Given the description of an element on the screen output the (x, y) to click on. 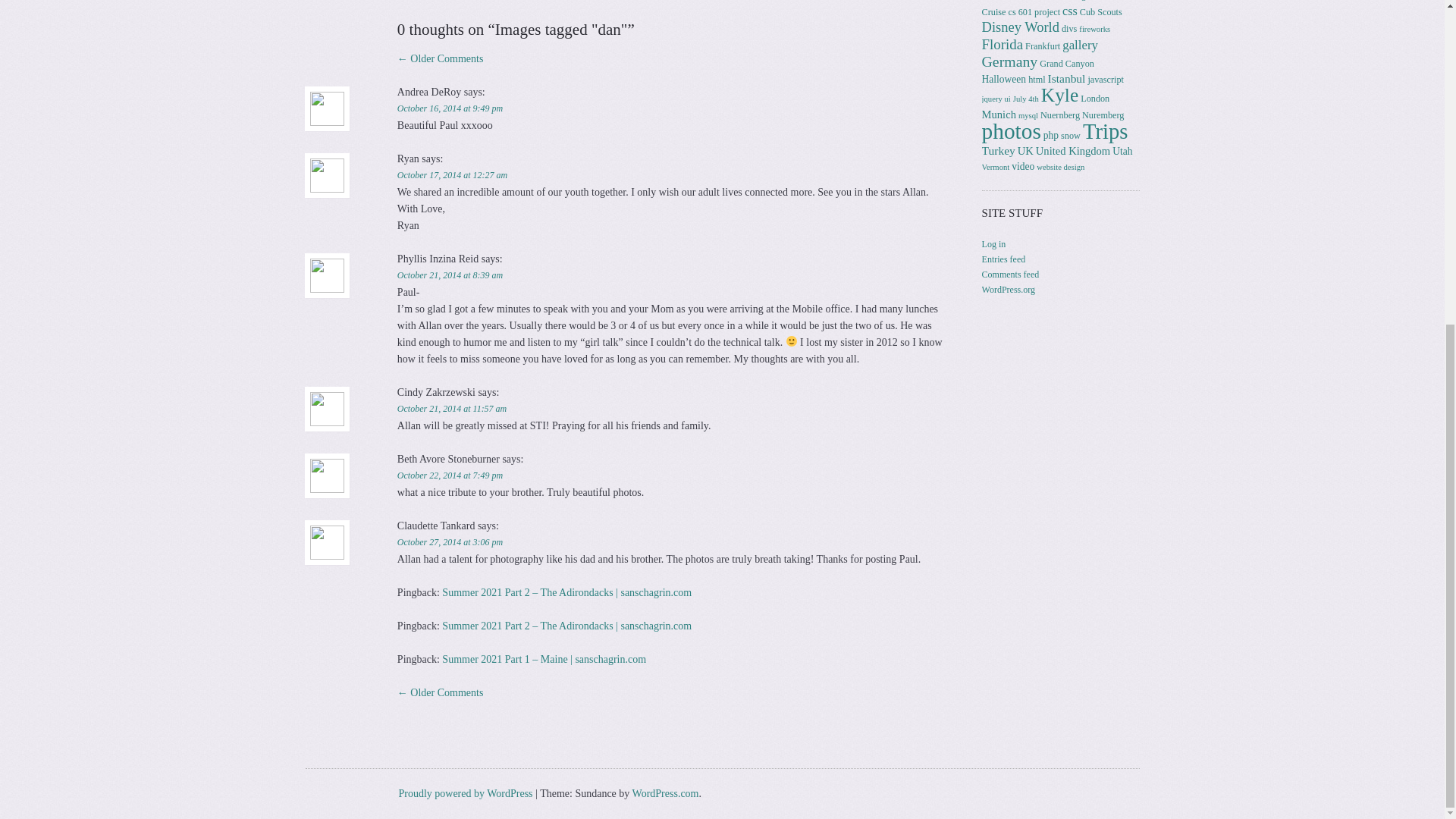
A Semantic Personal Publishing Platform (464, 793)
